Given the description of an element on the screen output the (x, y) to click on. 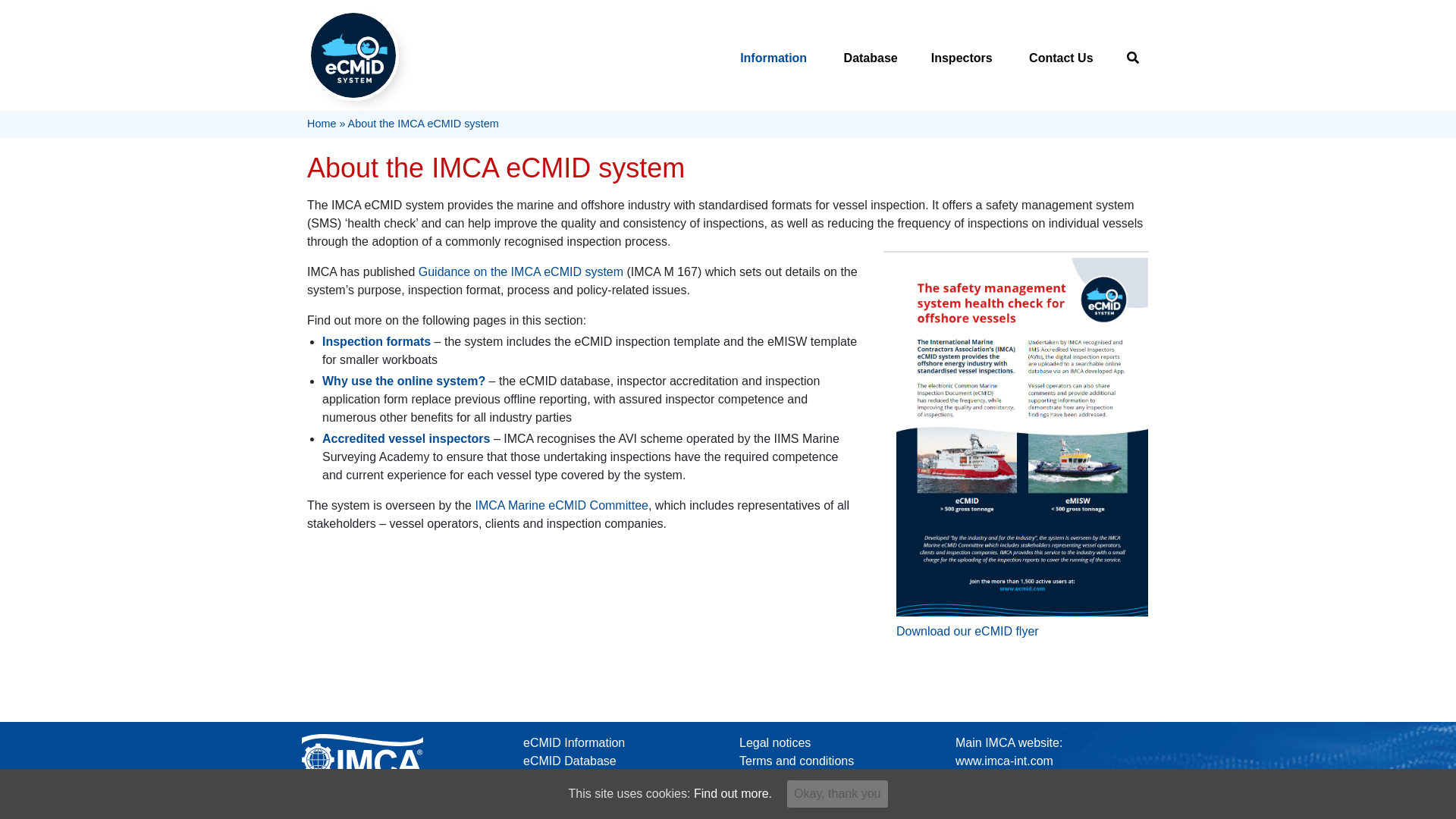
Download our eCMID flyer (967, 631)
Inspection formats (375, 341)
Inspectors (962, 58)
eCMID Database (1008, 751)
Contact Us (568, 760)
Guidance on the IMCA eCMID system (552, 797)
Find out more. (521, 271)
eCMID Information (732, 793)
IMCA Marine eCMID Committee (573, 742)
